Given the description of an element on the screen output the (x, y) to click on. 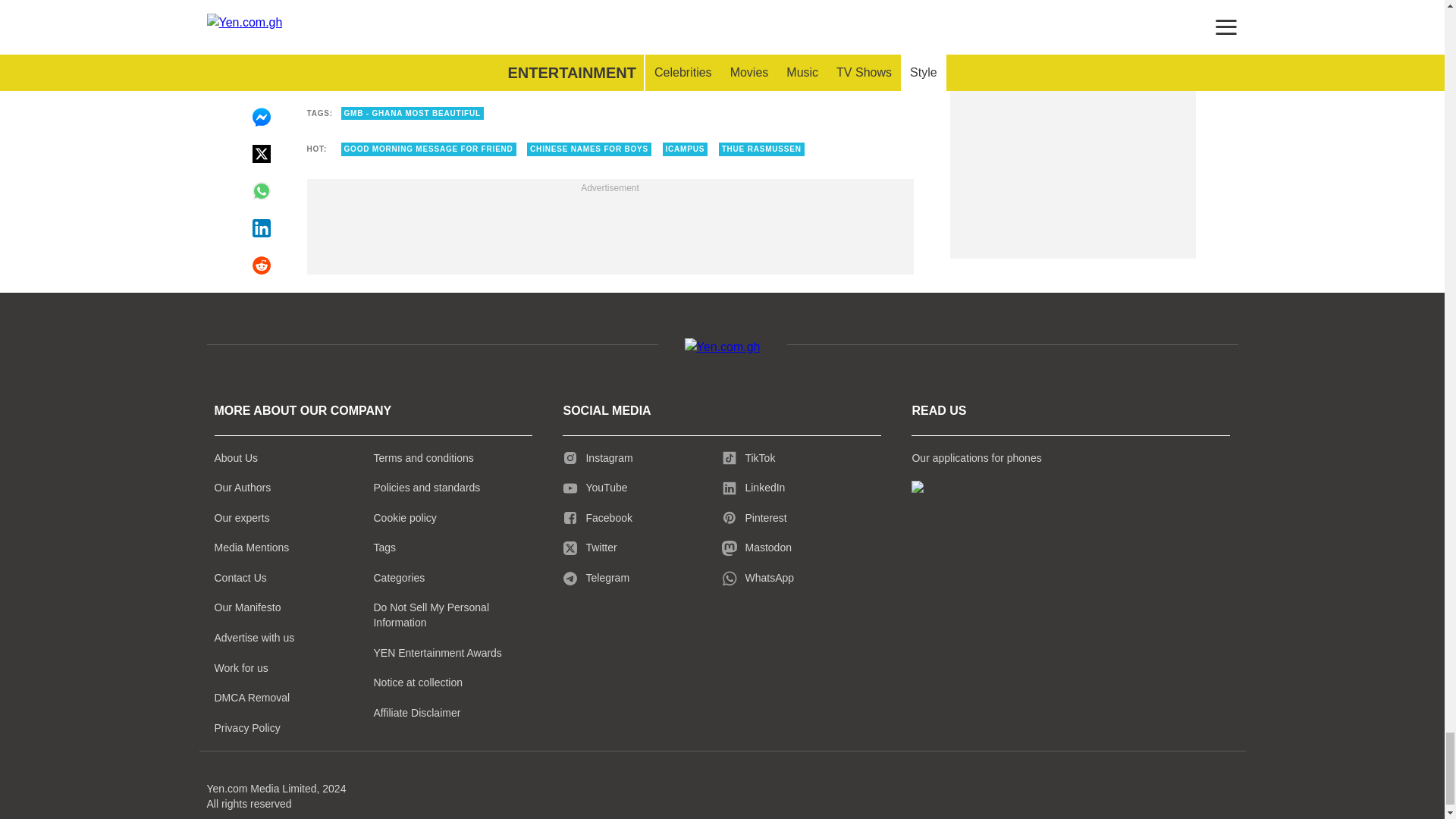
Author page (608, 45)
